Given the description of an element on the screen output the (x, y) to click on. 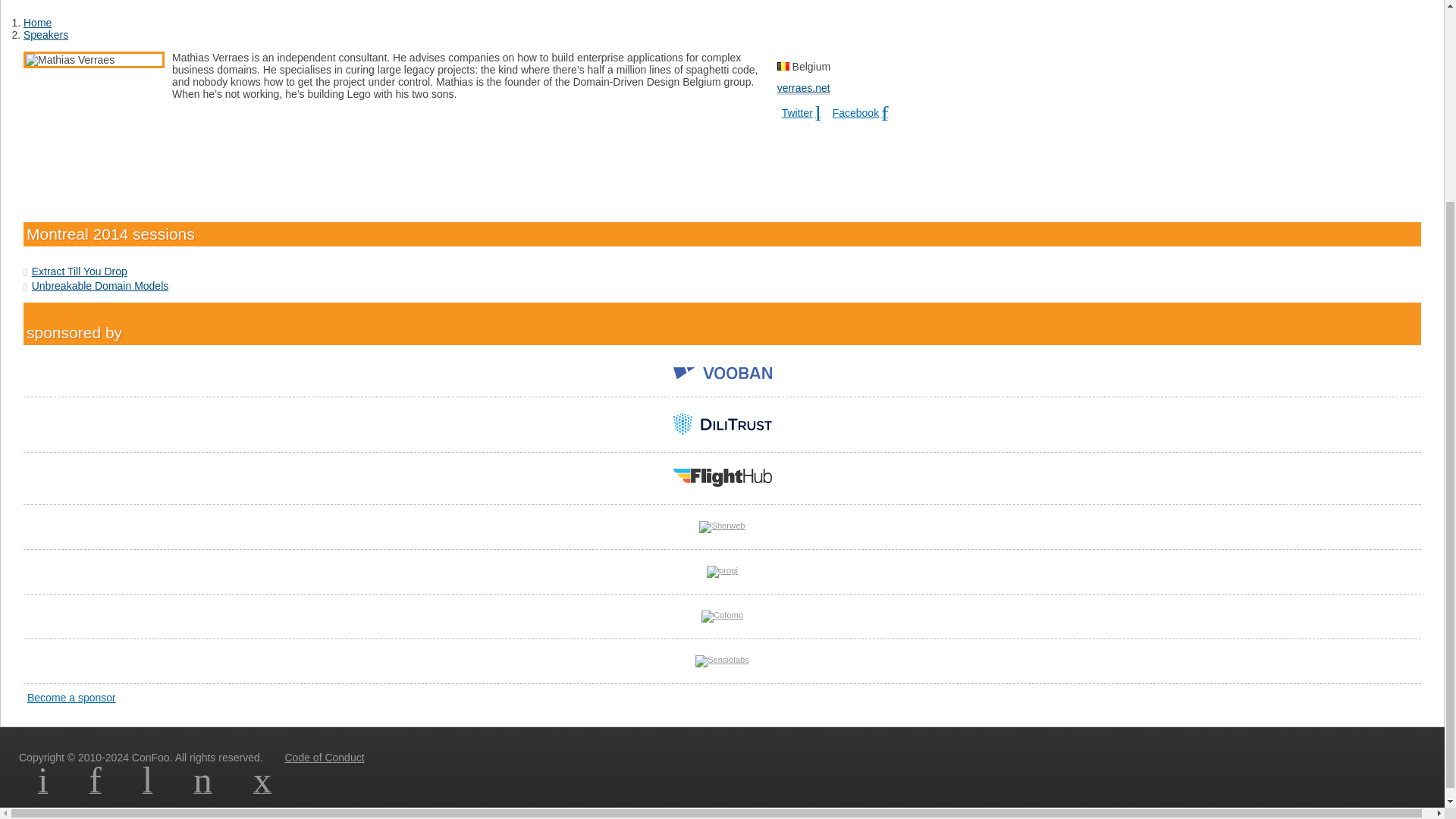
Twitter (802, 112)
Extract Till You Drop (80, 271)
Belgium (783, 66)
Twitter (802, 112)
Unbreakable Domain Models (100, 285)
Facebook page (94, 788)
Speakers (45, 34)
Home (36, 22)
Facebook (861, 112)
verraes.net (803, 88)
